Given the description of an element on the screen output the (x, y) to click on. 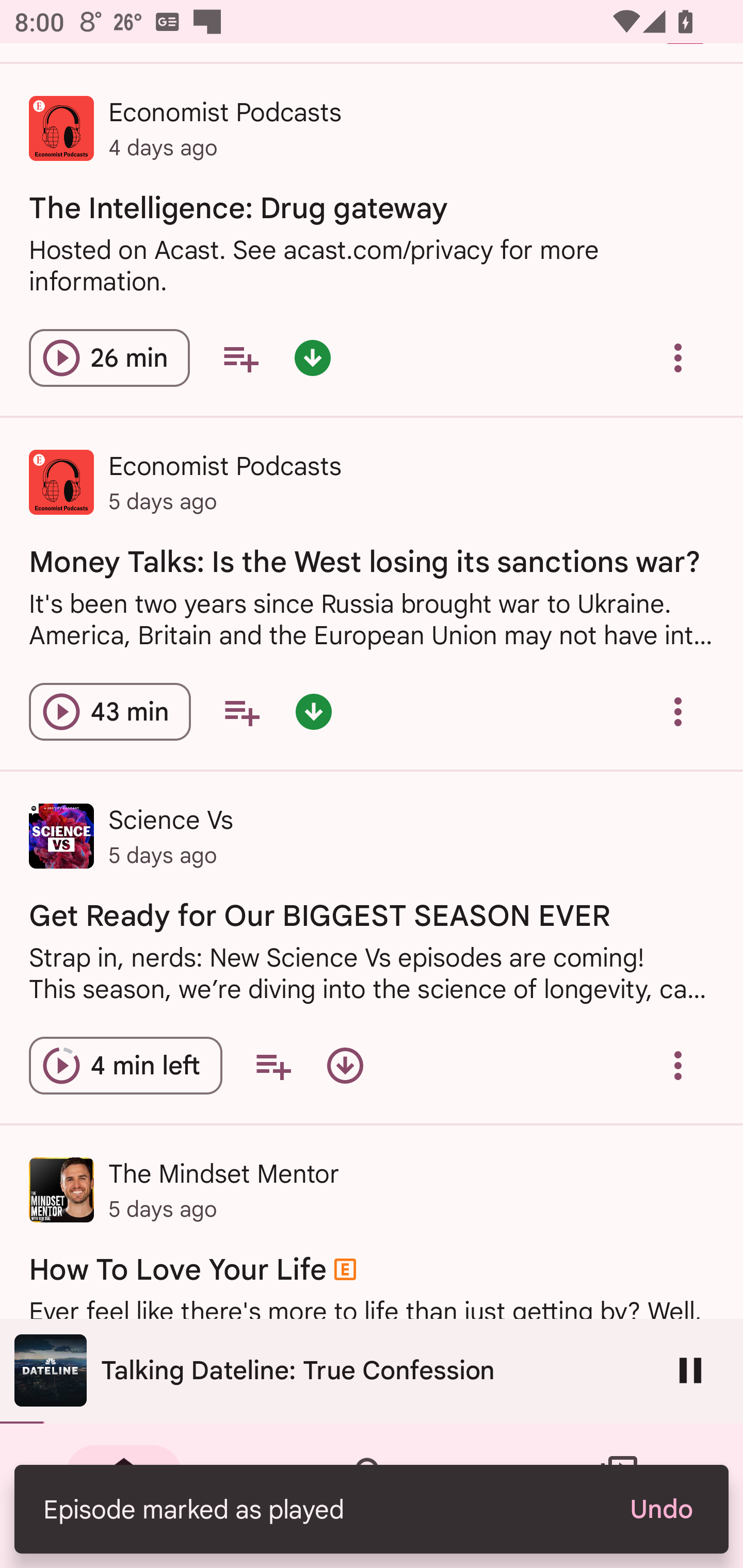
Play episode The Intelligence: Drug gateway 26 min (109, 358)
Add to your queue (240, 358)
Episode downloaded - double tap for options (312, 358)
Overflow menu (677, 358)
Add to your queue (241, 711)
Episode downloaded - double tap for options (313, 711)
Overflow menu (677, 711)
Add to your queue (273, 1065)
Download episode (345, 1065)
Overflow menu (677, 1065)
Pause (690, 1370)
Undo (660, 1509)
